Given the description of an element on the screen output the (x, y) to click on. 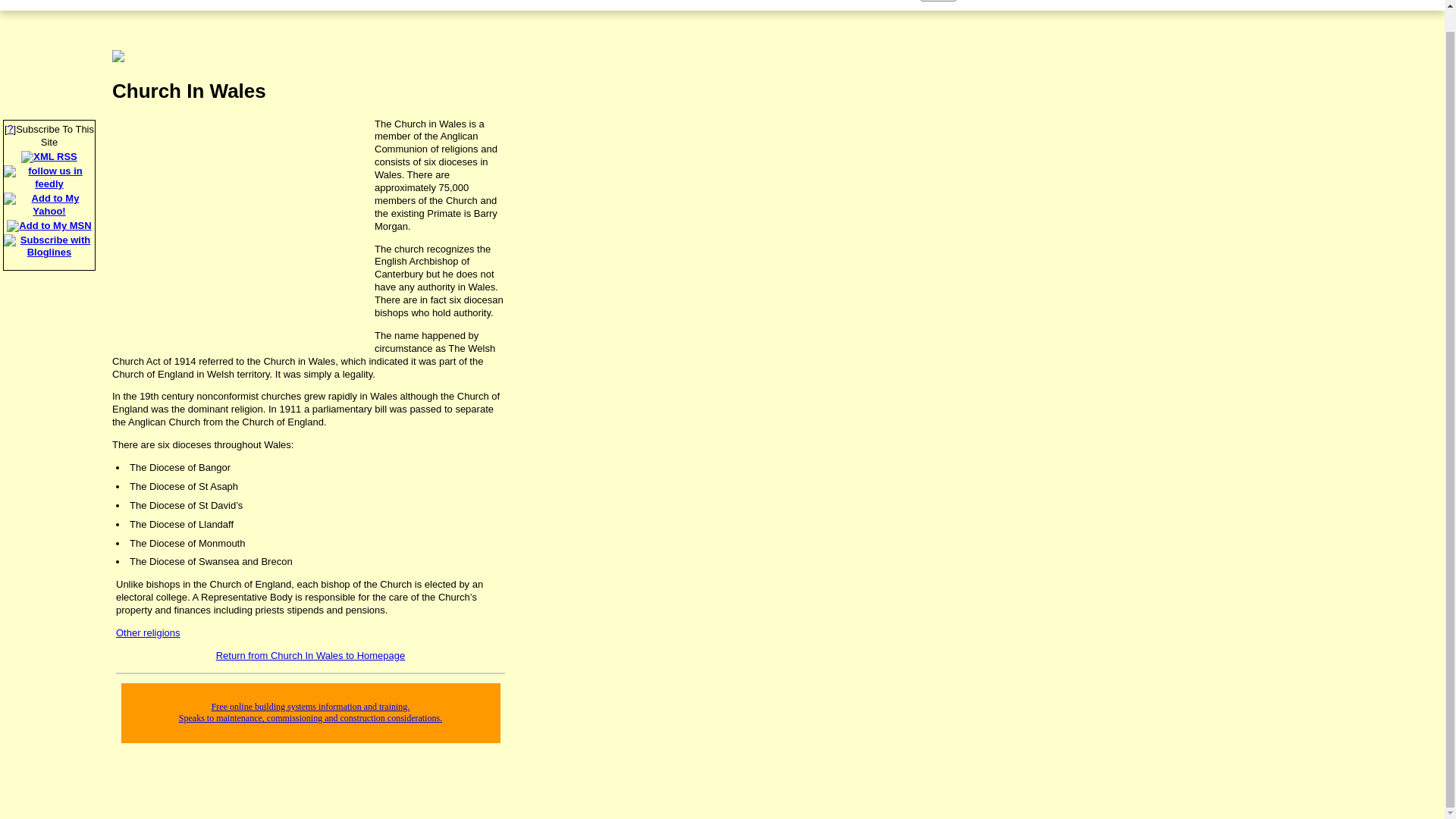
Dharmic (49, 545)
Abrahamic (49, 522)
Explain Soul (49, 428)
Bible History (49, 804)
Agnosticism (49, 663)
Cleric Deviate (49, 757)
Religious Comment (49, 334)
Gnosticism (49, 687)
World Statistics (49, 475)
